Given the description of an element on the screen output the (x, y) to click on. 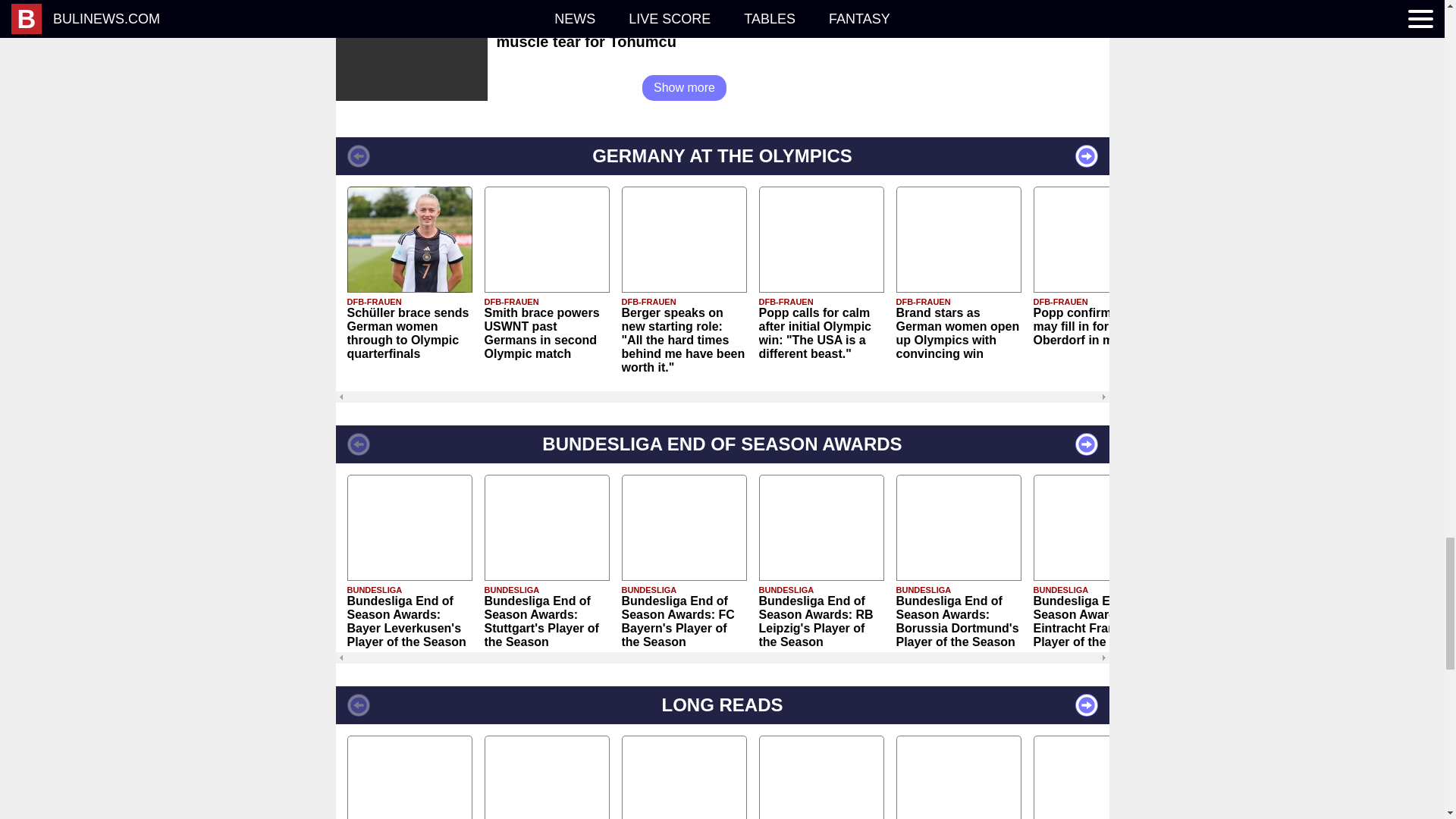
LONG READS (721, 704)
BUNDESLIGA END OF SEASON AWARDS (721, 444)
GERMANY AT THE OLYMPICS (721, 156)
